Given the description of an element on the screen output the (x, y) to click on. 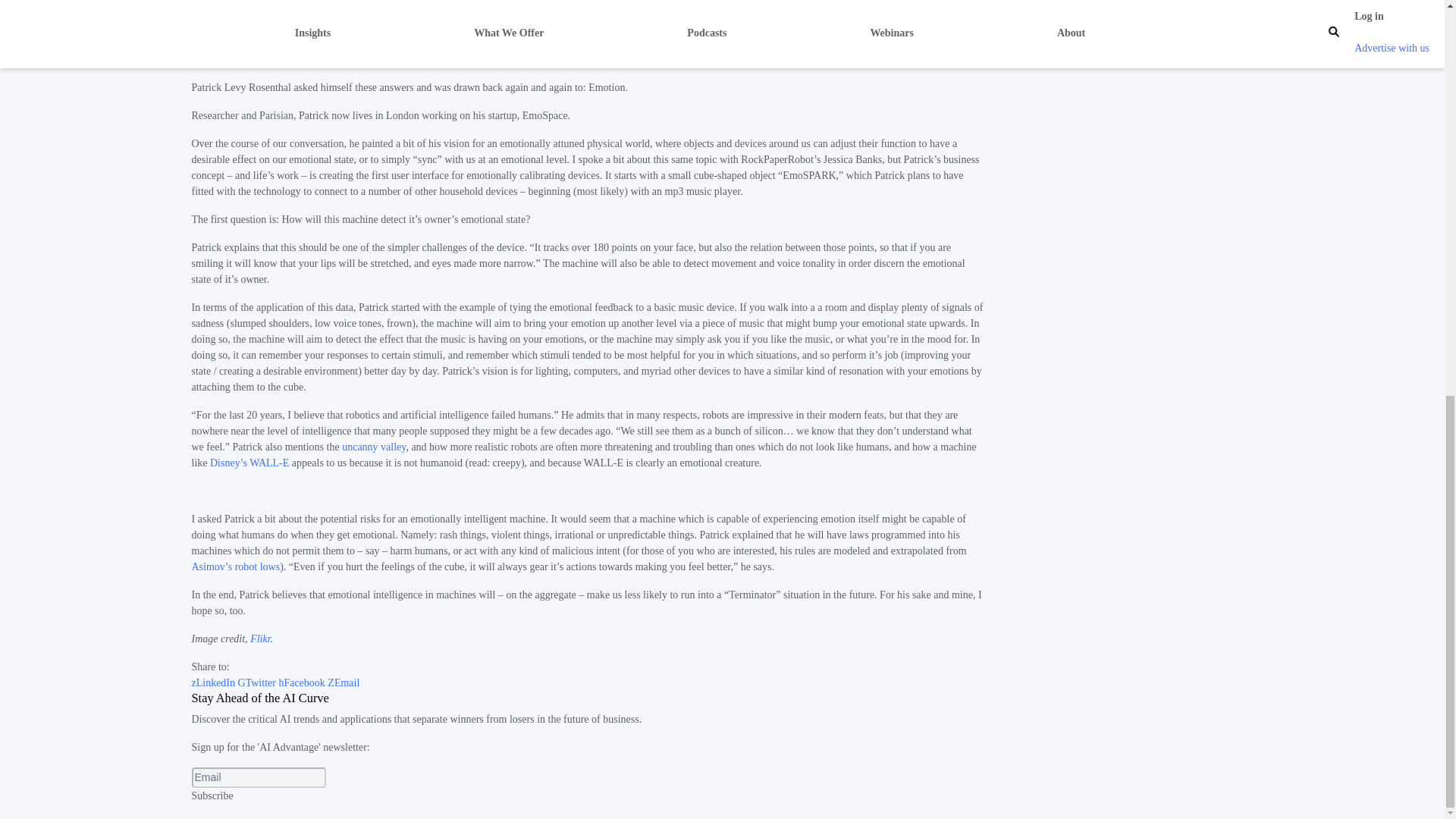
uncanny valley (374, 446)
Disney's WALL-E (248, 462)
Assimov robot laws (234, 566)
